Given the description of an element on the screen output the (x, y) to click on. 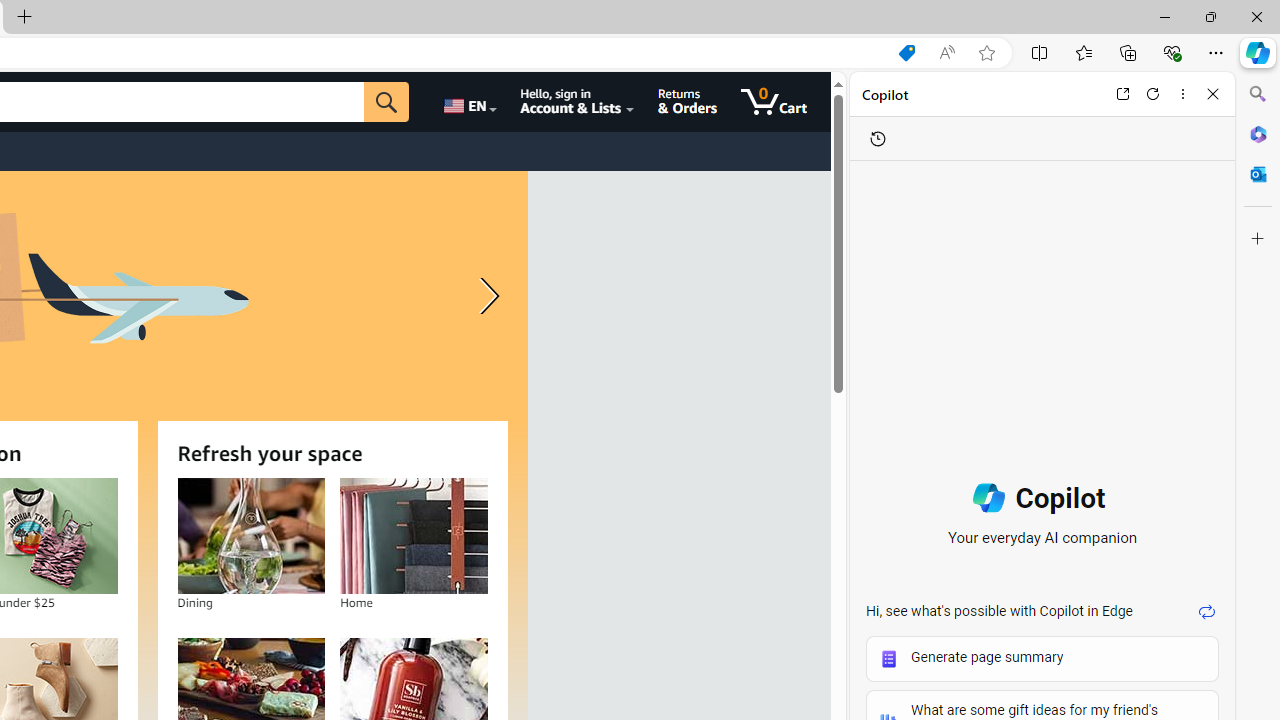
Shopping in Microsoft Edge (906, 53)
Choose a language for shopping. (468, 101)
Next slide (484, 296)
Returns & Orders (686, 101)
Go (386, 101)
